Given the description of an element on the screen output the (x, y) to click on. 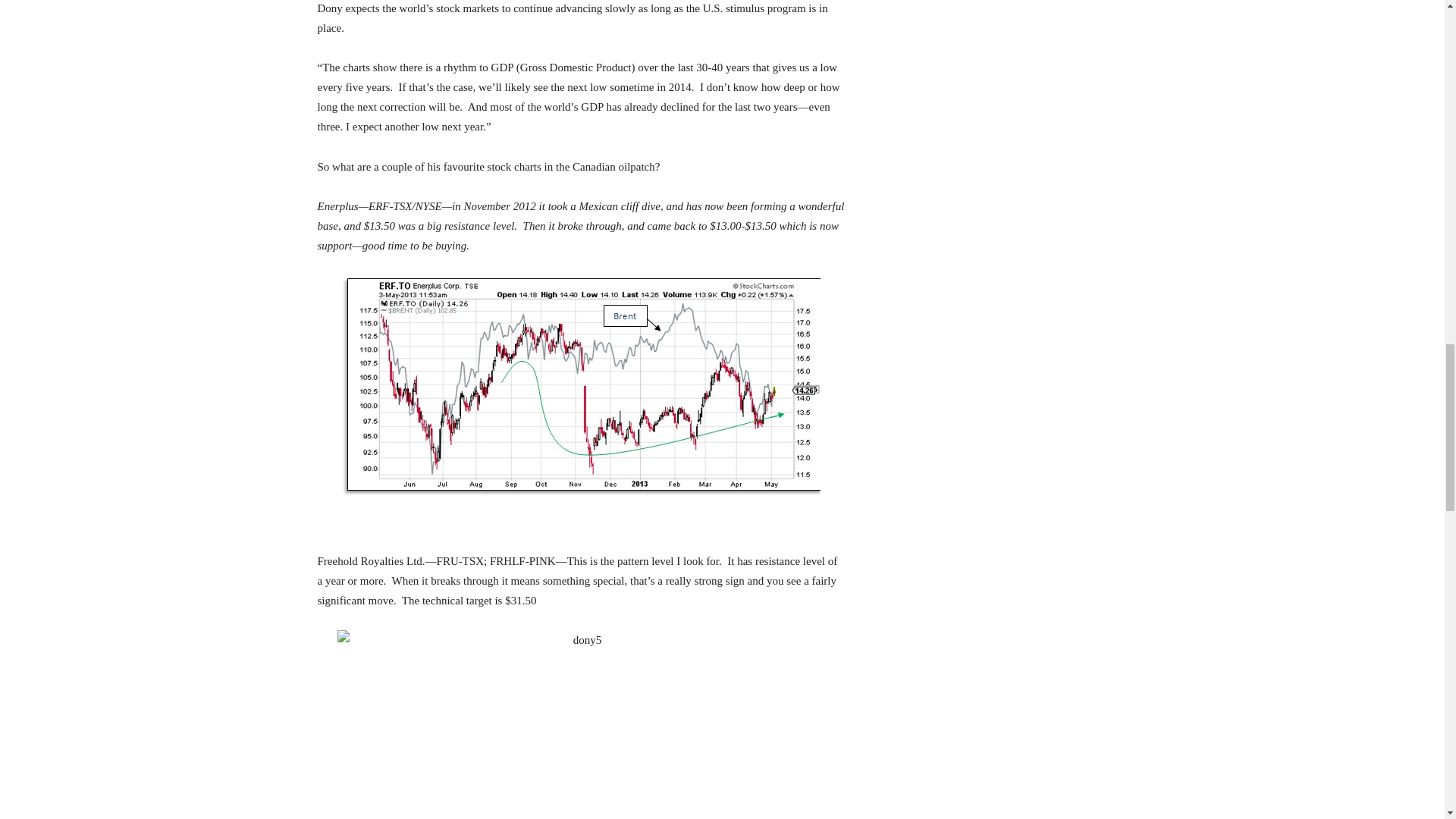
dony5 (581, 724)
